Given the description of an element on the screen output the (x, y) to click on. 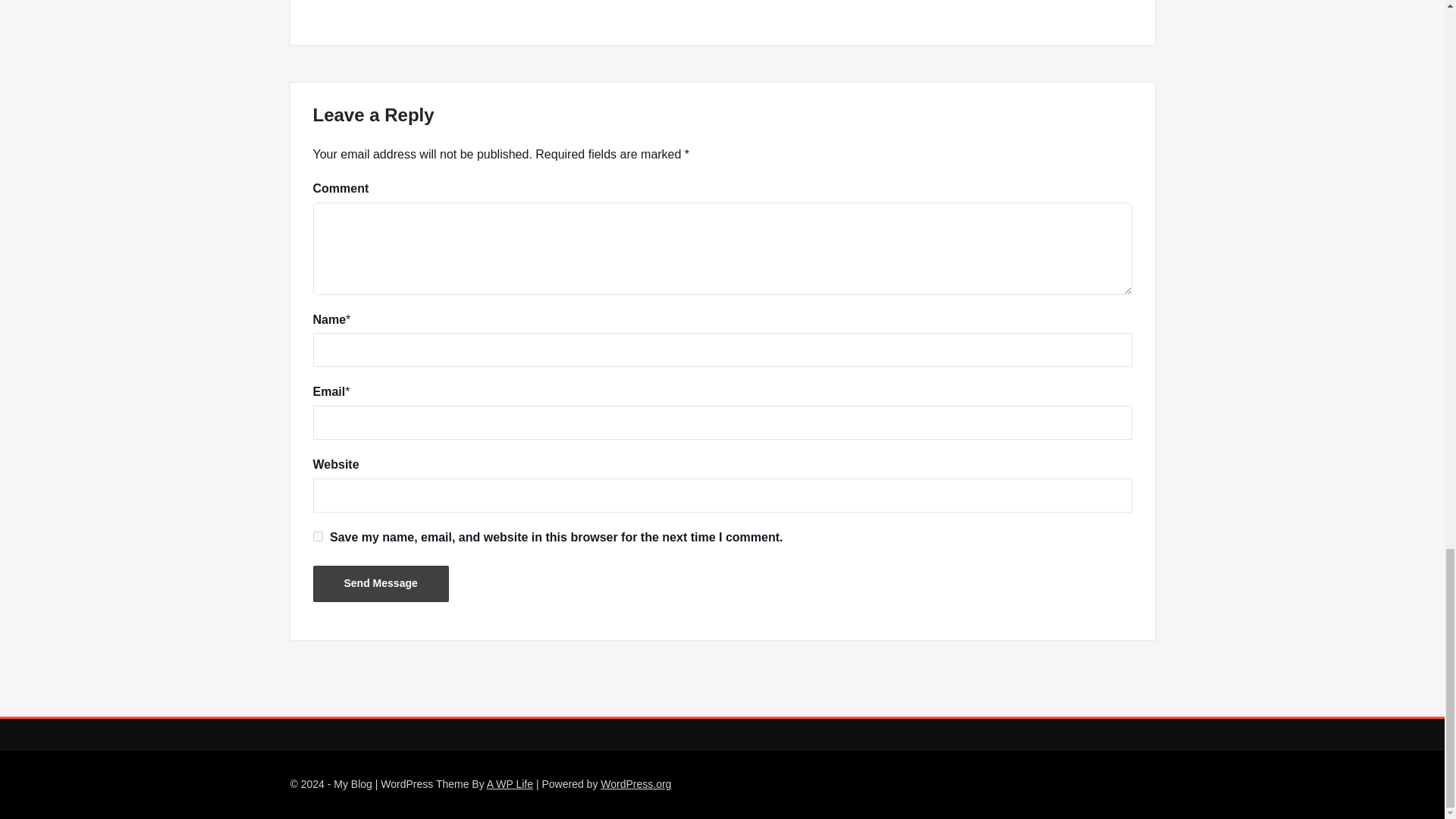
WordPress.org (635, 784)
A WP Life (509, 784)
Send Message (380, 583)
yes (317, 536)
Send Message (380, 583)
